Given the description of an element on the screen output the (x, y) to click on. 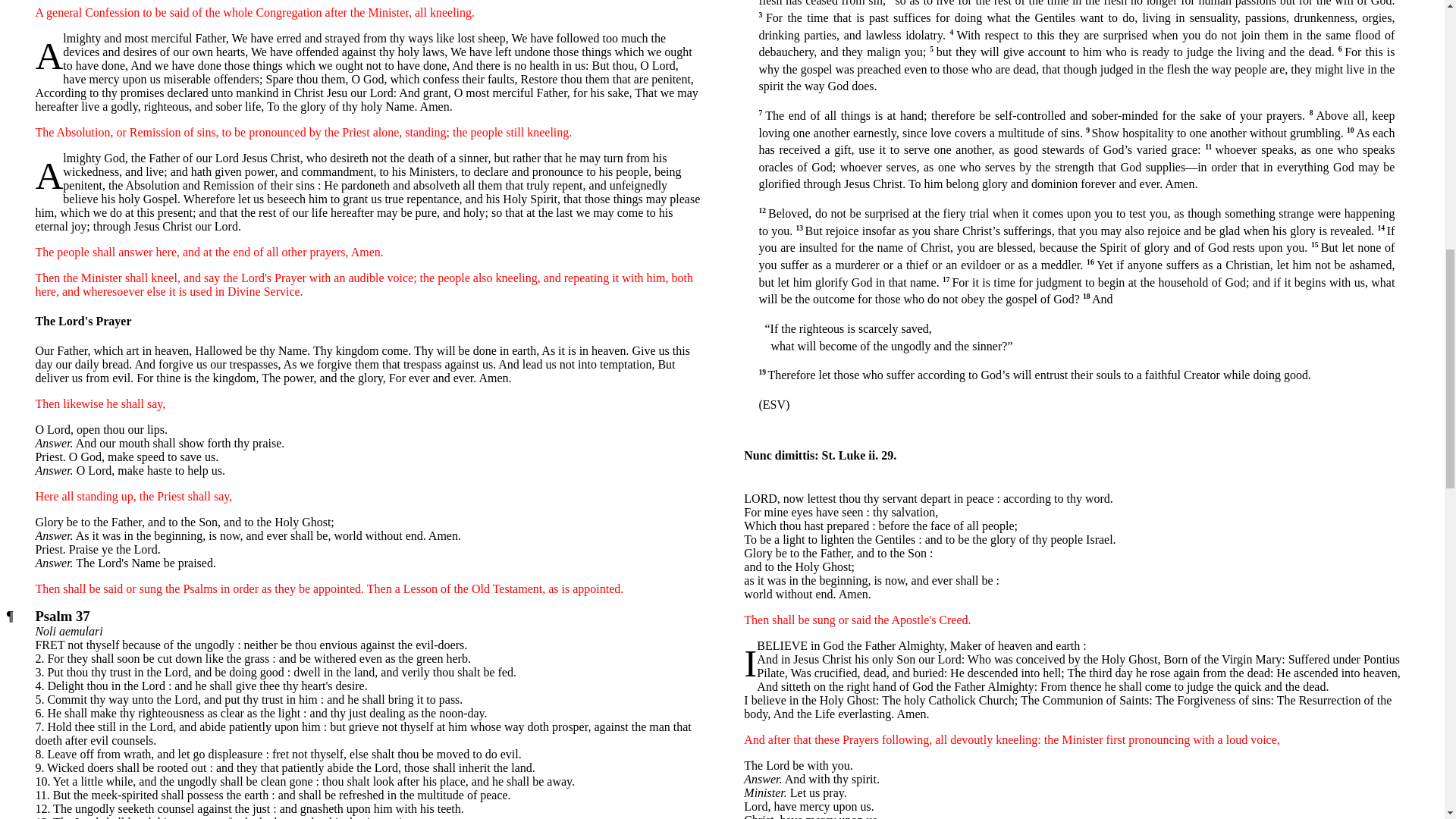
ESV (774, 404)
